Given the description of an element on the screen output the (x, y) to click on. 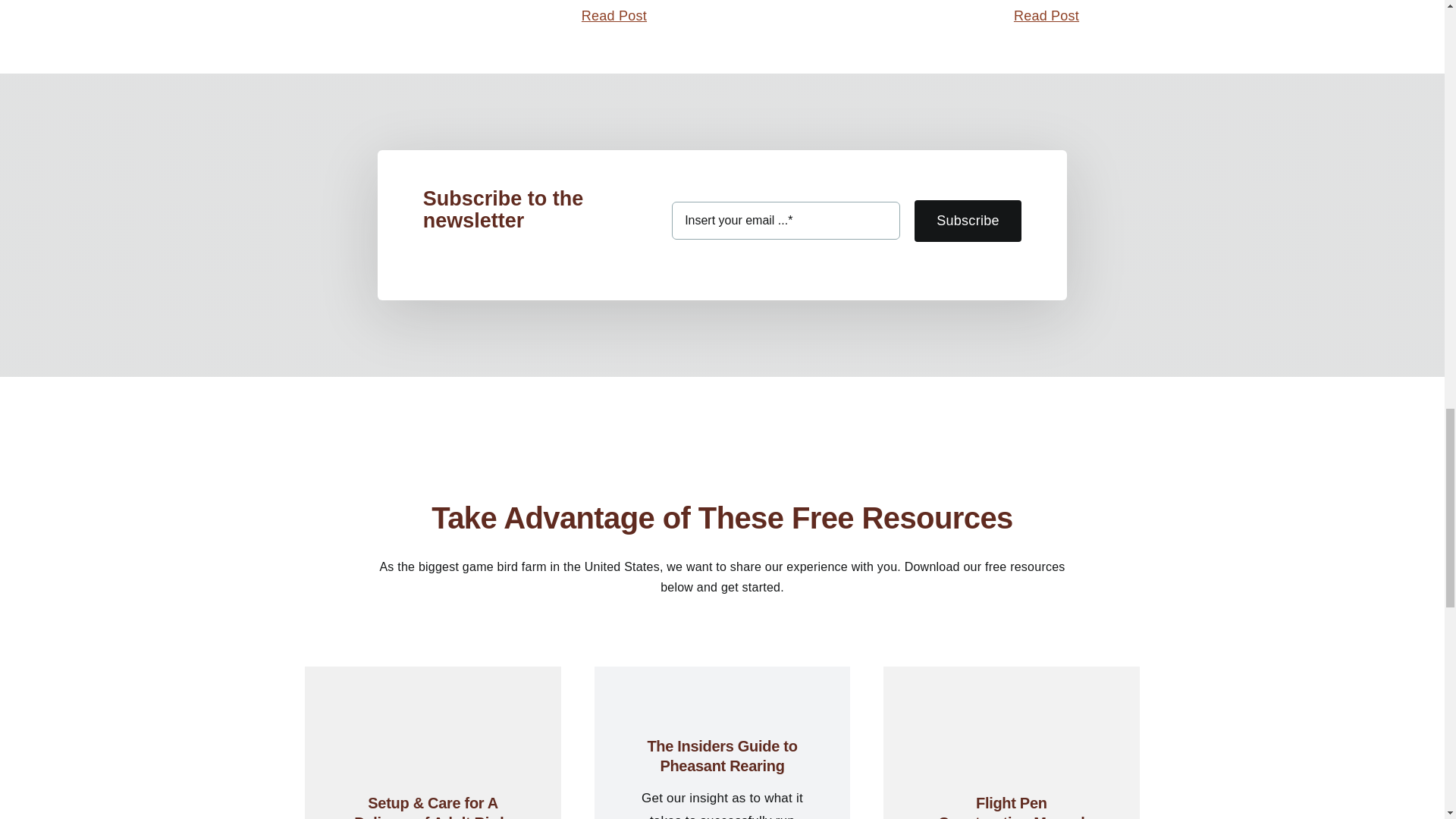
Subscribe (846, 229)
3 (1010, 695)
2 (722, 667)
1 (432, 695)
